Given the description of an element on the screen output the (x, y) to click on. 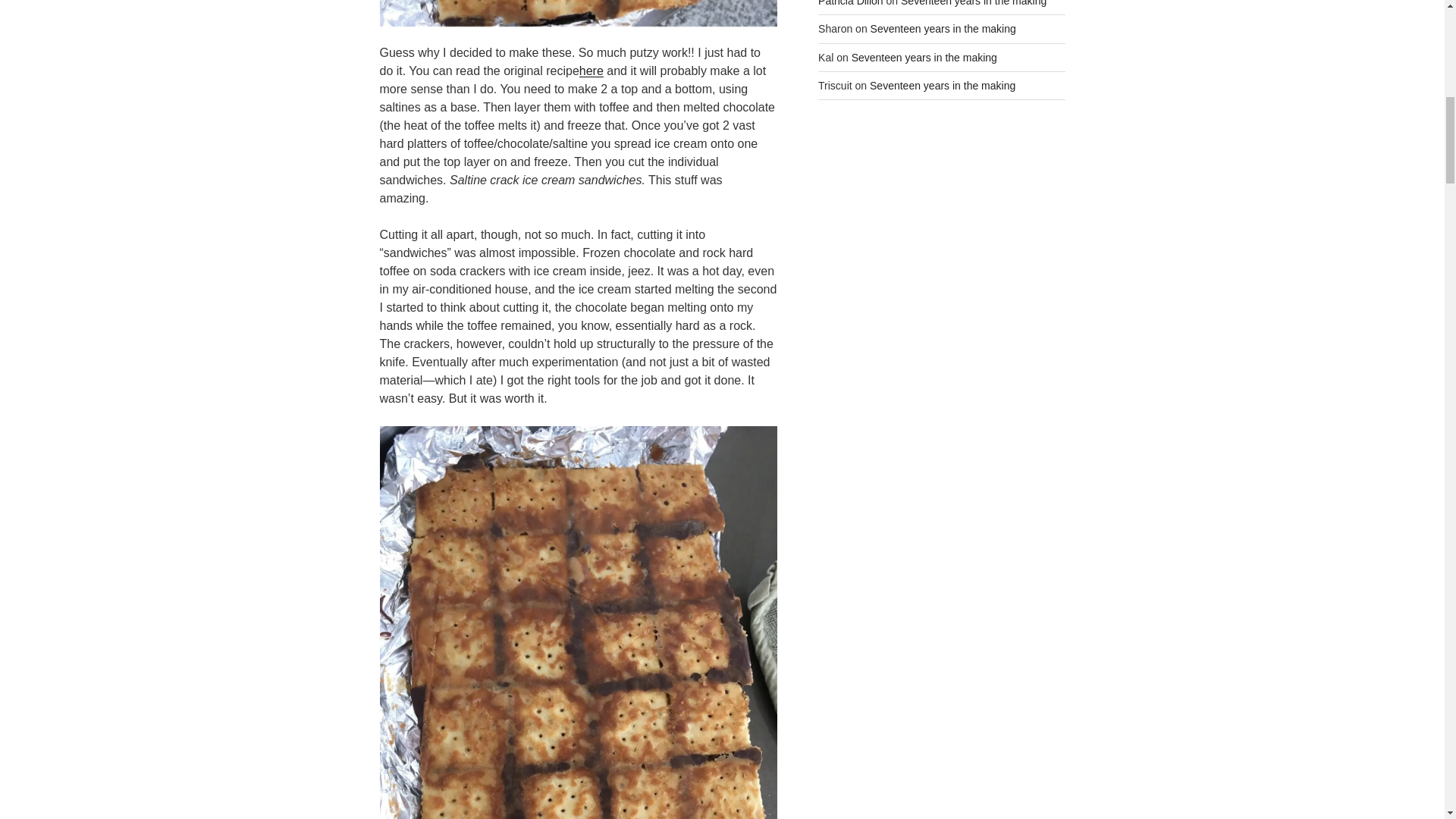
Seventeen years in the making (941, 85)
Patricia Dillon (850, 3)
here (591, 70)
Seventeen years in the making (924, 57)
Seventeen years in the making (973, 3)
Seventeen years in the making (943, 28)
